Given the description of an element on the screen output the (x, y) to click on. 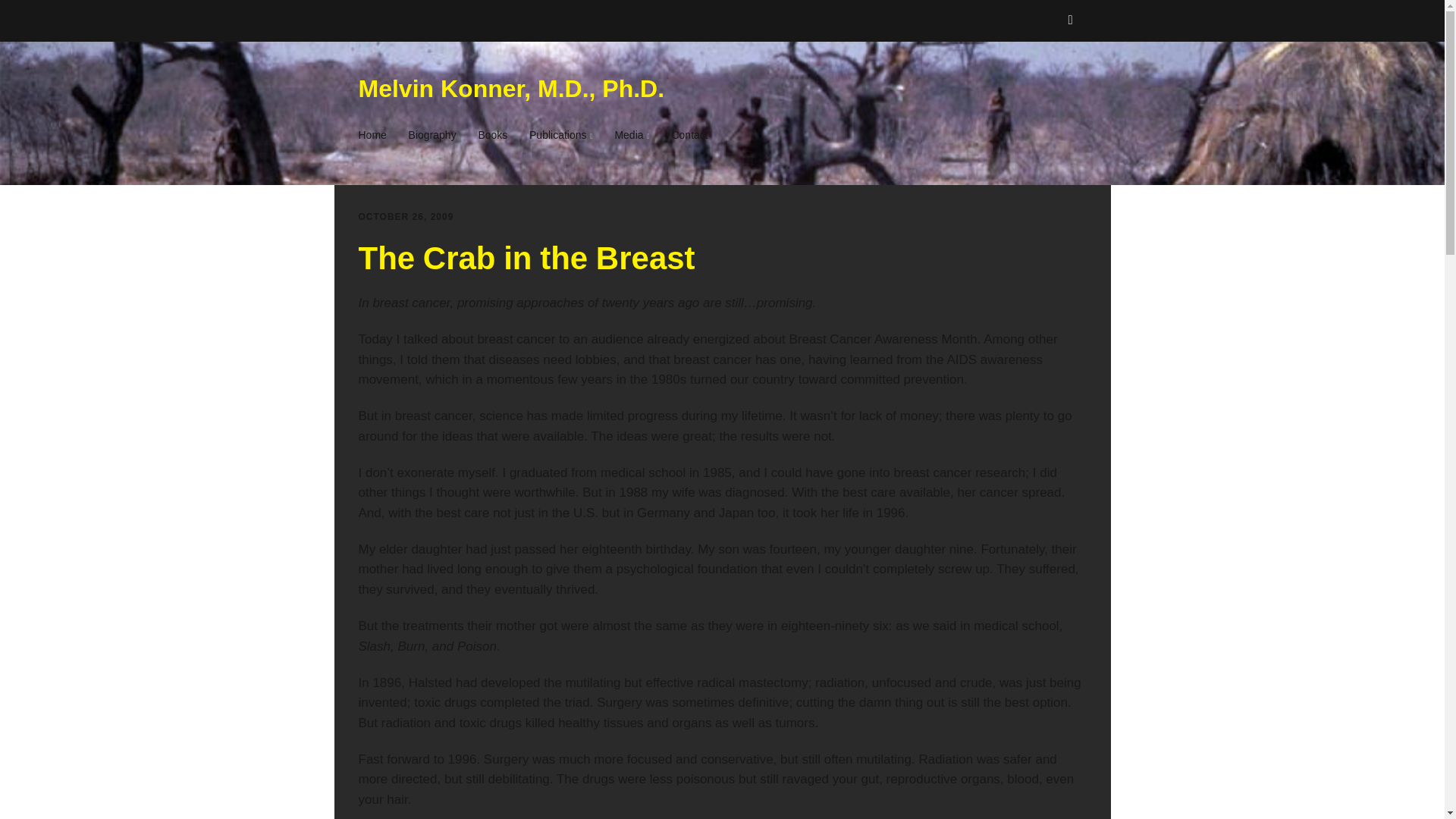
Home (376, 135)
Books (492, 135)
Contact (689, 135)
Media (631, 135)
Biography (431, 135)
Publications (560, 135)
Melvin Konner, M.D., Ph.D. (510, 88)
